Given the description of an element on the screen output the (x, y) to click on. 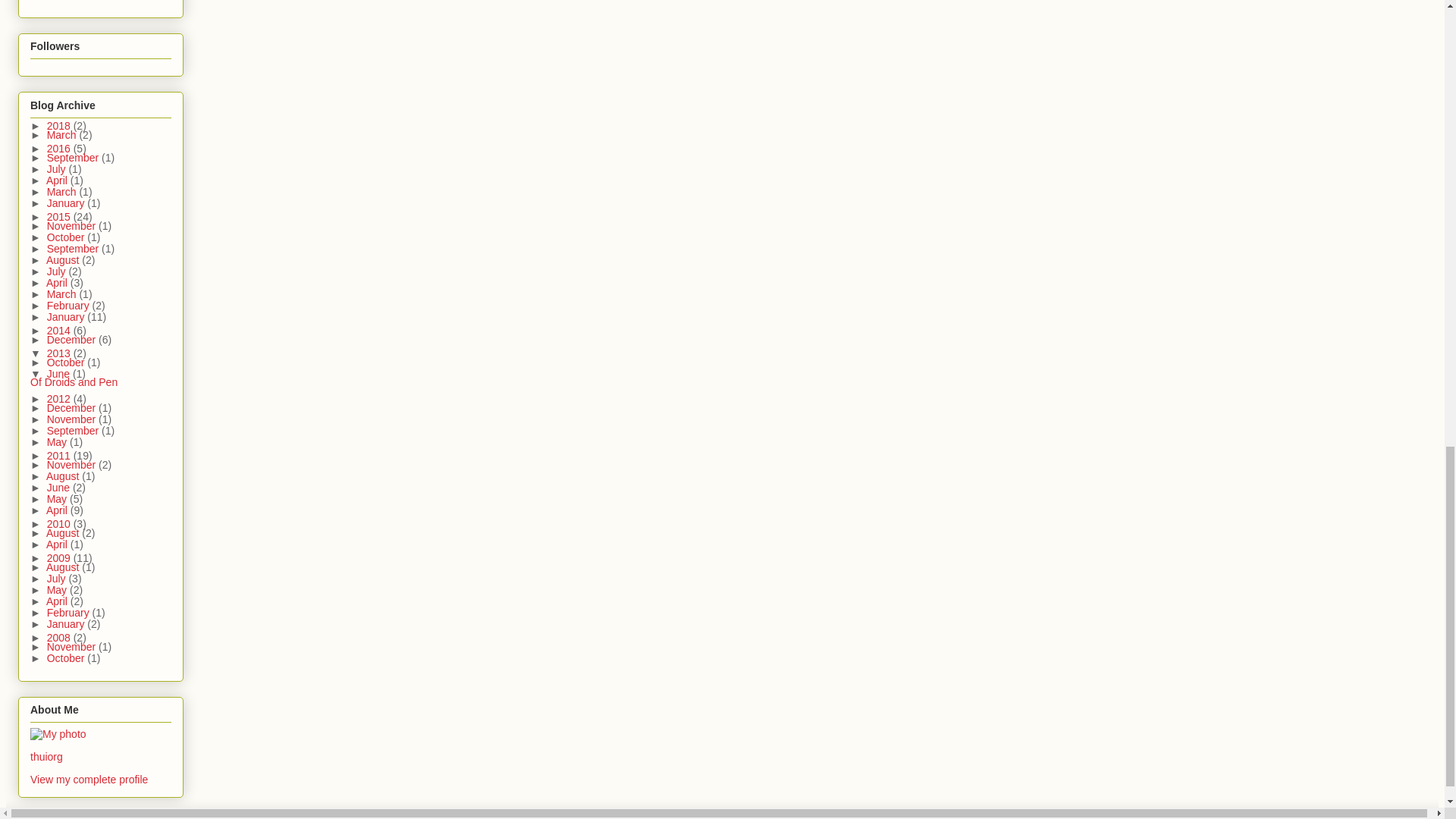
January (66, 203)
2015 (60, 216)
November (72, 225)
April (57, 180)
March (63, 191)
March (63, 134)
2018 (60, 125)
2016 (60, 148)
September (73, 157)
July (57, 168)
October (66, 236)
